Given the description of an element on the screen output the (x, y) to click on. 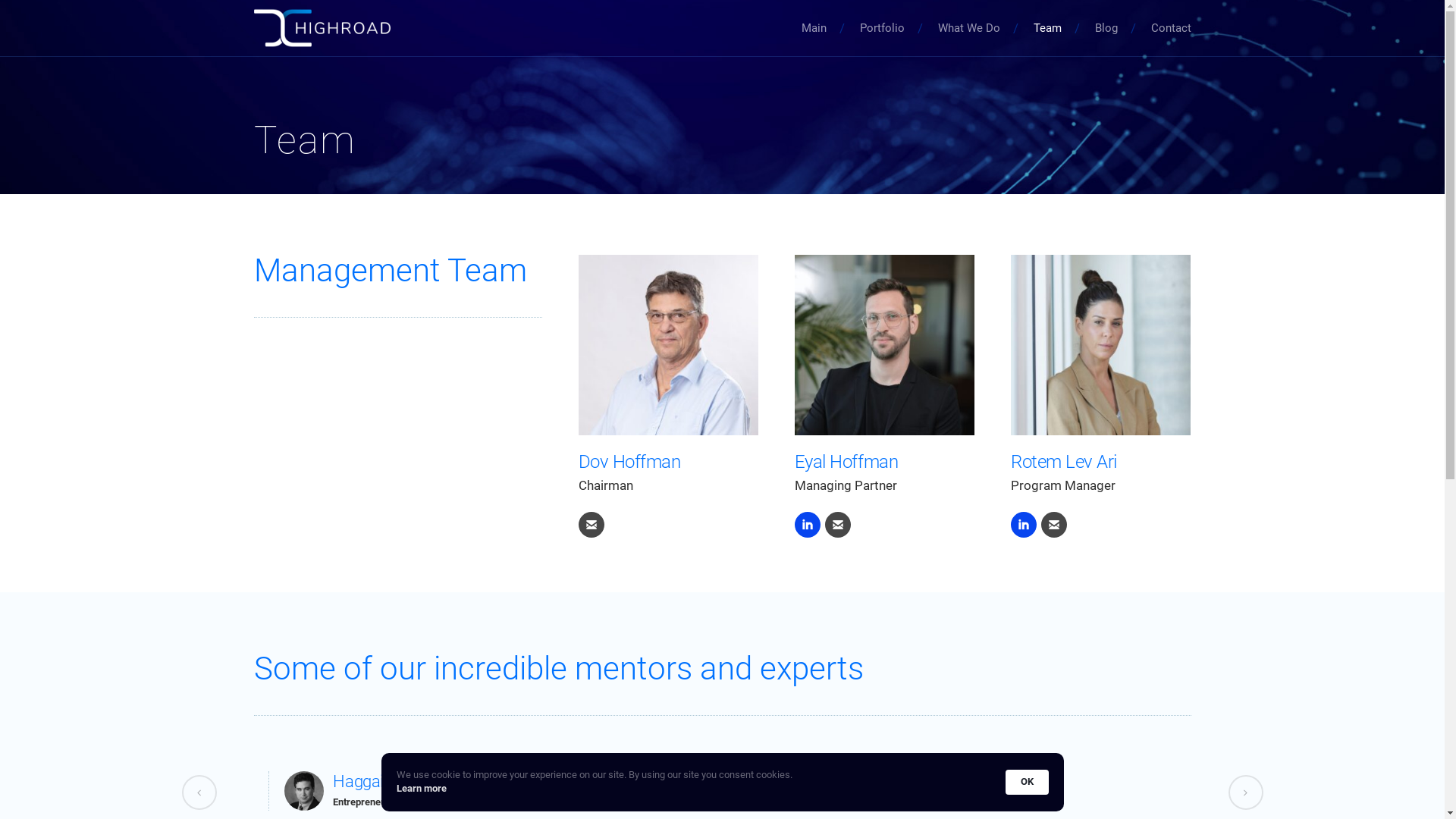
Team Element type: text (1046, 28)
Eyal-1-77b-SQ-comp - Copy Element type: hover (884, 344)
dov Element type: hover (667, 344)
Learn more Element type: text (420, 788)
Main Element type: text (812, 28)
Contact Element type: text (1171, 28)
Blog Element type: text (1106, 28)
Rotem-1-14-SQ2 Element type: hover (1100, 344)
Portfolio Element type: text (881, 28)
What We Do Element type: text (968, 28)
